Given the description of an element on the screen output the (x, y) to click on. 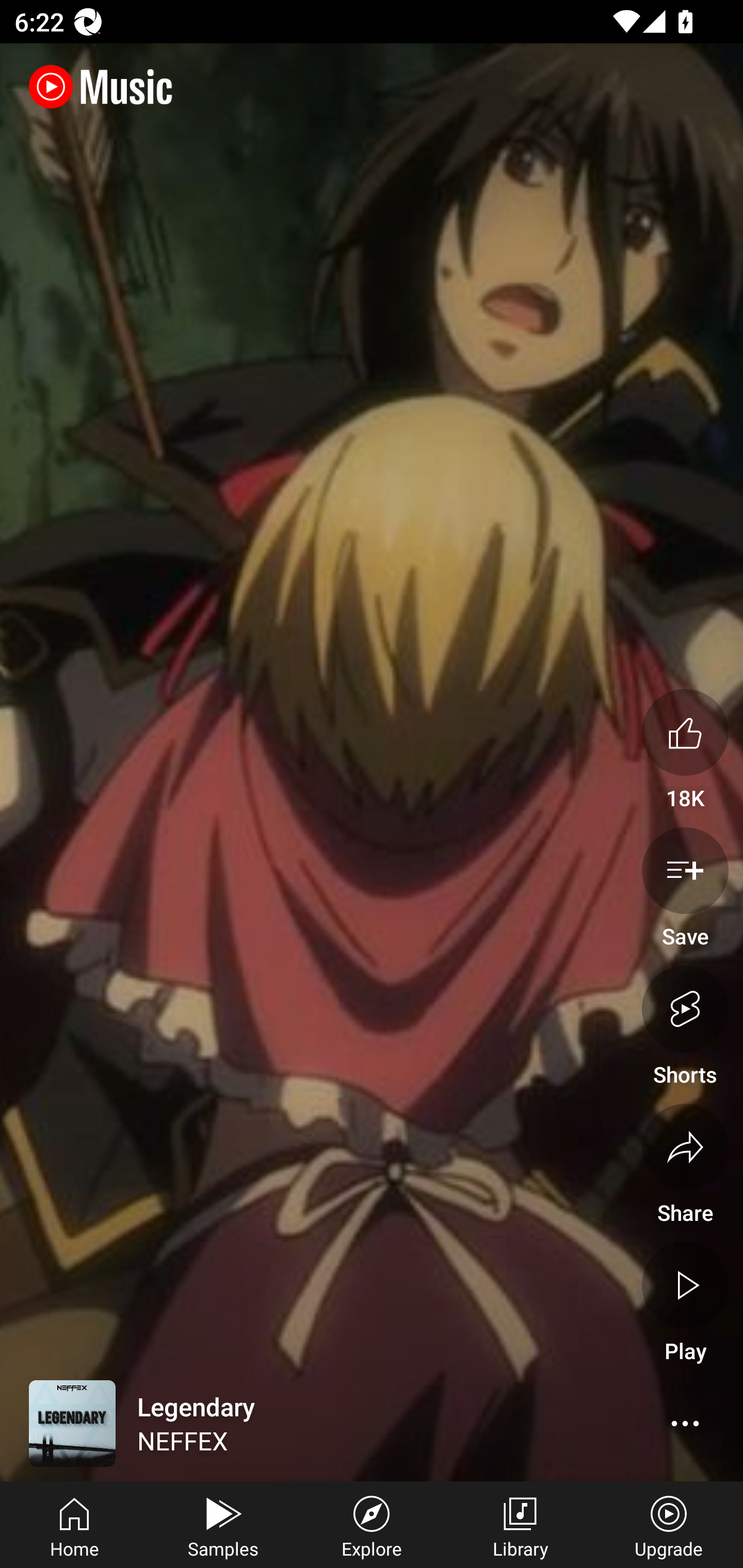
Legendary (291, 1423)
Home (74, 1524)
Explore (371, 1524)
Library (519, 1524)
Upgrade (668, 1524)
